Given the description of an element on the screen output the (x, y) to click on. 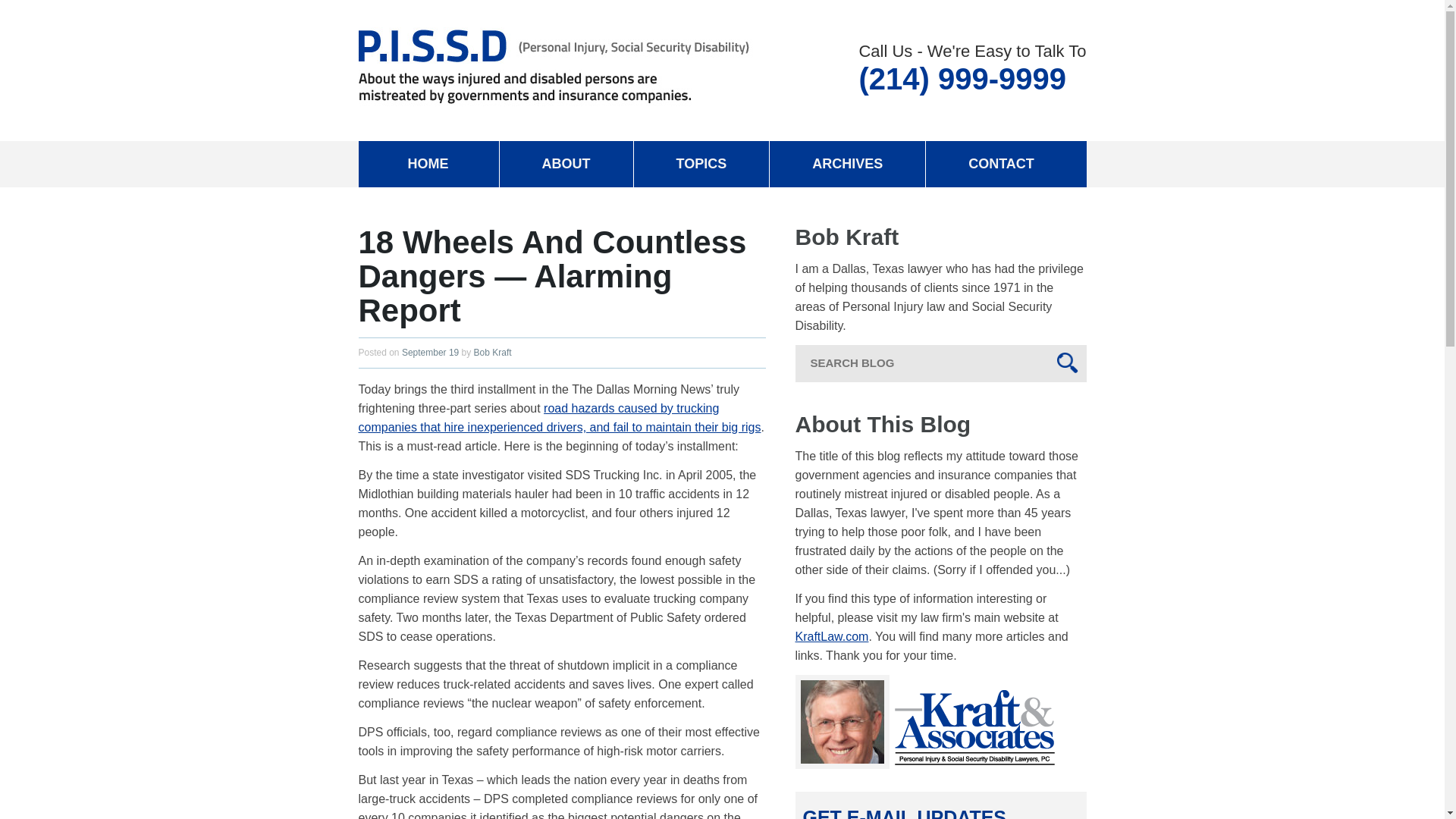
Bob Kraft (493, 352)
ABOUT (565, 163)
Subscribe (40, 8)
Posts by Bob Kraft (493, 352)
CONTACT (1001, 163)
September 19 (429, 352)
TOPICS (701, 163)
ARCHIVES (847, 163)
KraftLaw.com (830, 635)
HOME (427, 163)
